Given the description of an element on the screen output the (x, y) to click on. 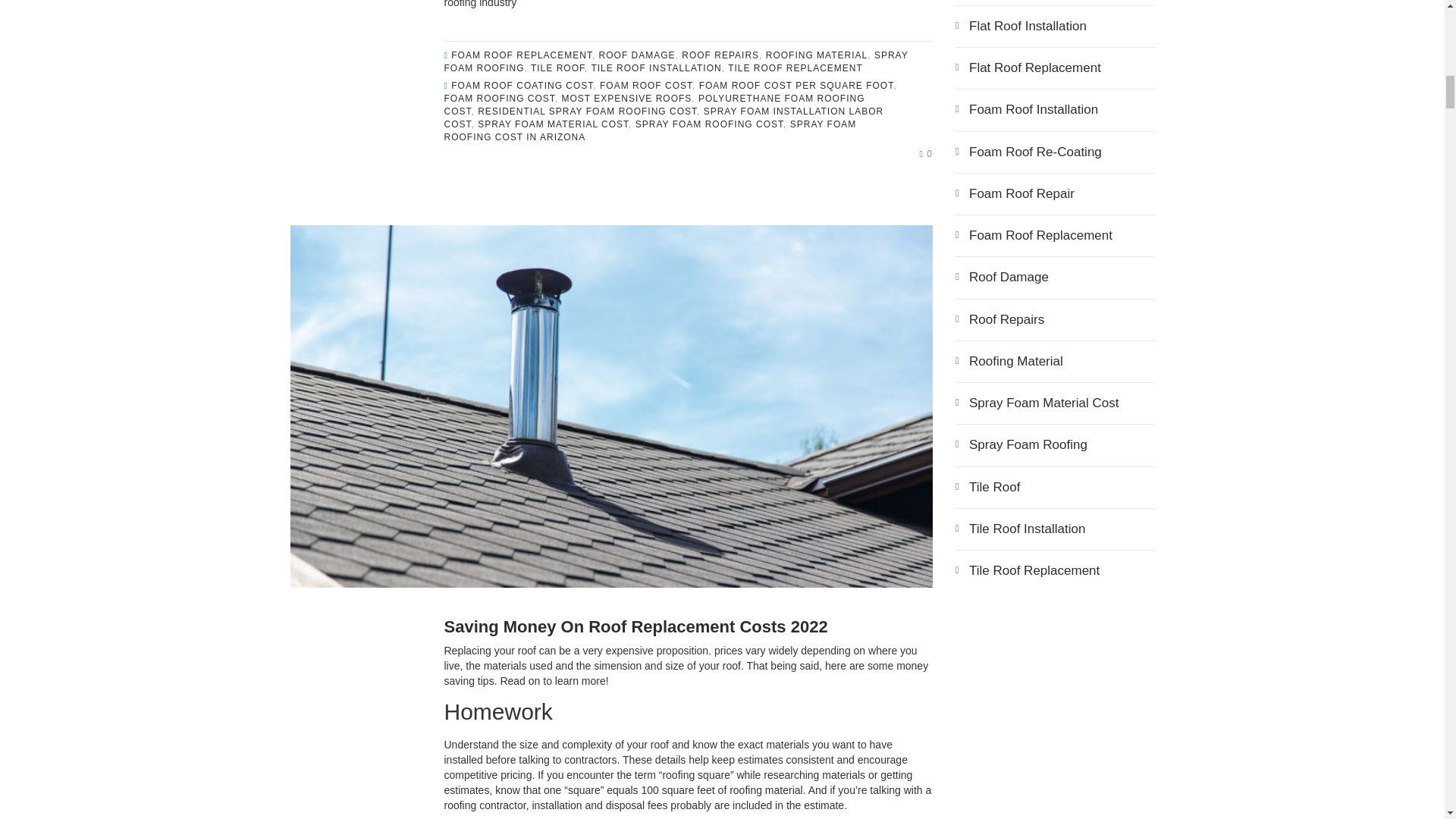
SPRAY FOAM MATERIAL COST (552, 123)
Saving Money On Roof Replacement Costs 2022 (636, 626)
TILE ROOF (558, 68)
SPRAY FOAM ROOFING (676, 61)
SPRAY FOAM INSTALLATION LABOR COST (663, 117)
SPRAY FOAM ROOFING COST IN ARIZONA (650, 130)
TILE ROOF REPLACEMENT (795, 68)
SPRAY FOAM ROOFING COST (708, 123)
POLYURETHANE FOAM ROOFING COST (654, 105)
FOAM ROOF COST (646, 85)
